Given the description of an element on the screen output the (x, y) to click on. 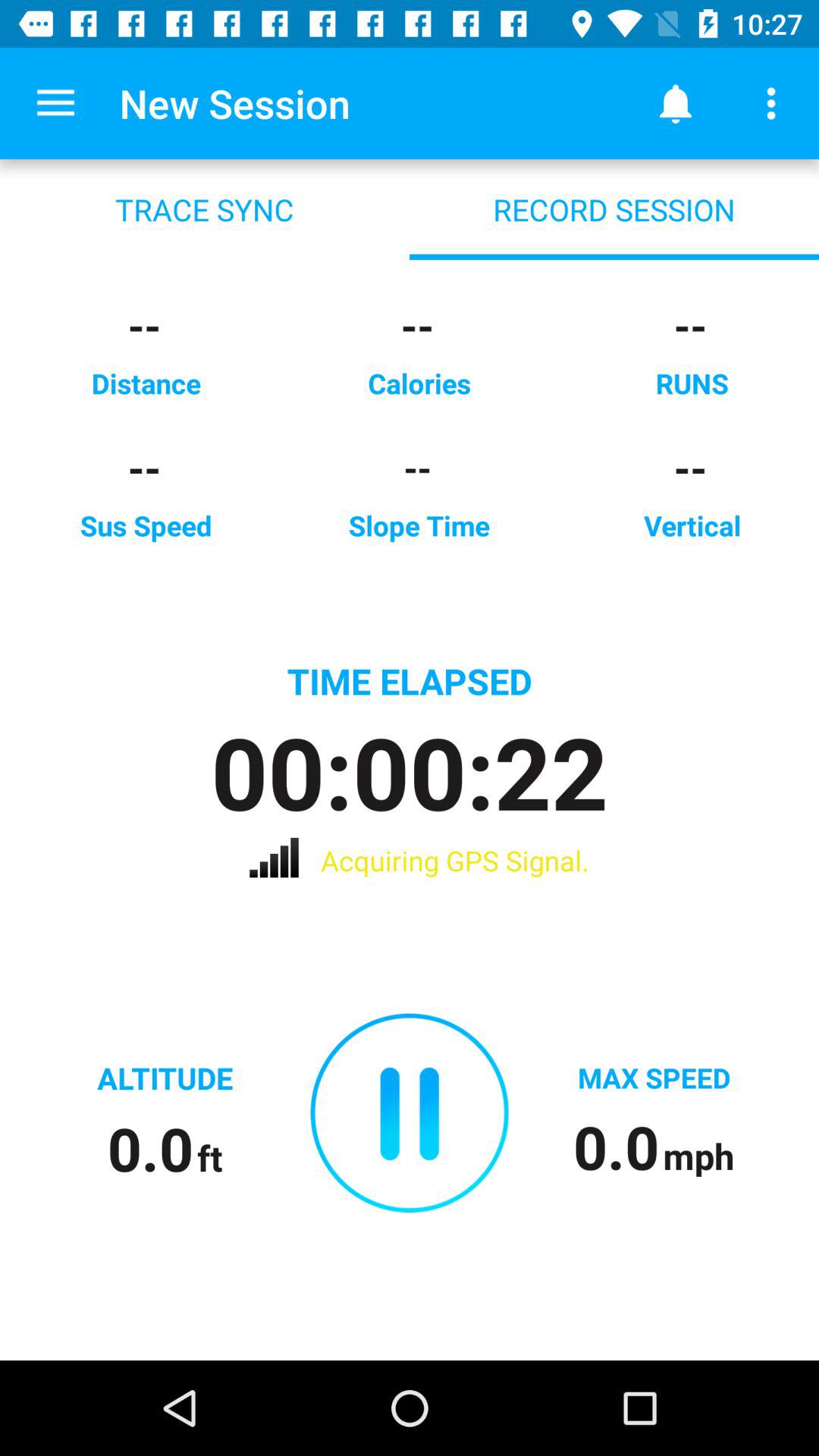
launch icon above the record session item (675, 103)
